Given the description of an element on the screen output the (x, y) to click on. 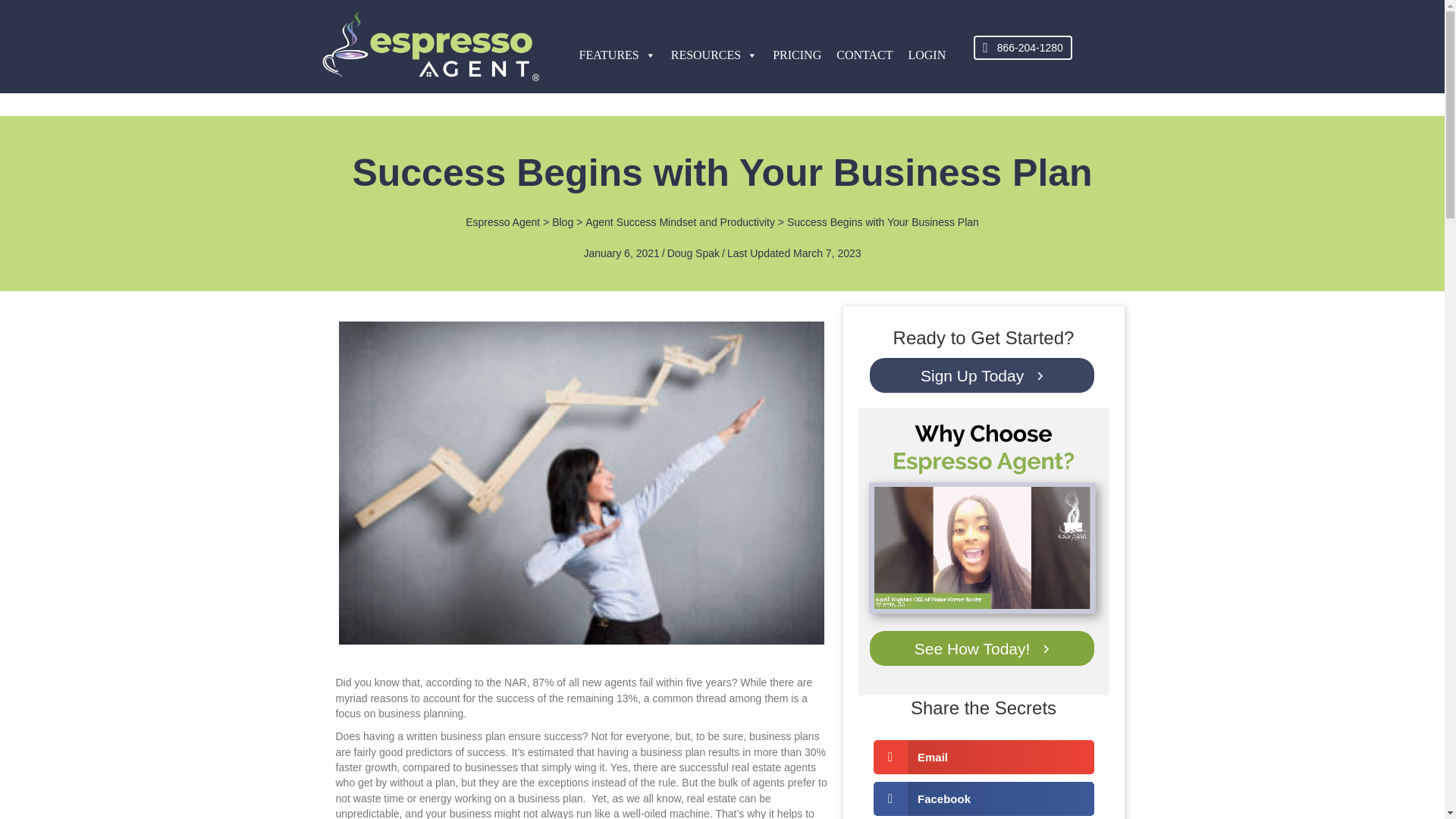
FEATURES (617, 55)
Go to Blog. (562, 222)
whychoose-blogimg-02 (984, 551)
CONTACT (863, 55)
PRICING (796, 55)
LOGIN (926, 55)
RESOURCES (714, 55)
Go to Espresso Agent. (502, 222)
866-204-1280 (1022, 47)
